Given the description of an element on the screen output the (x, y) to click on. 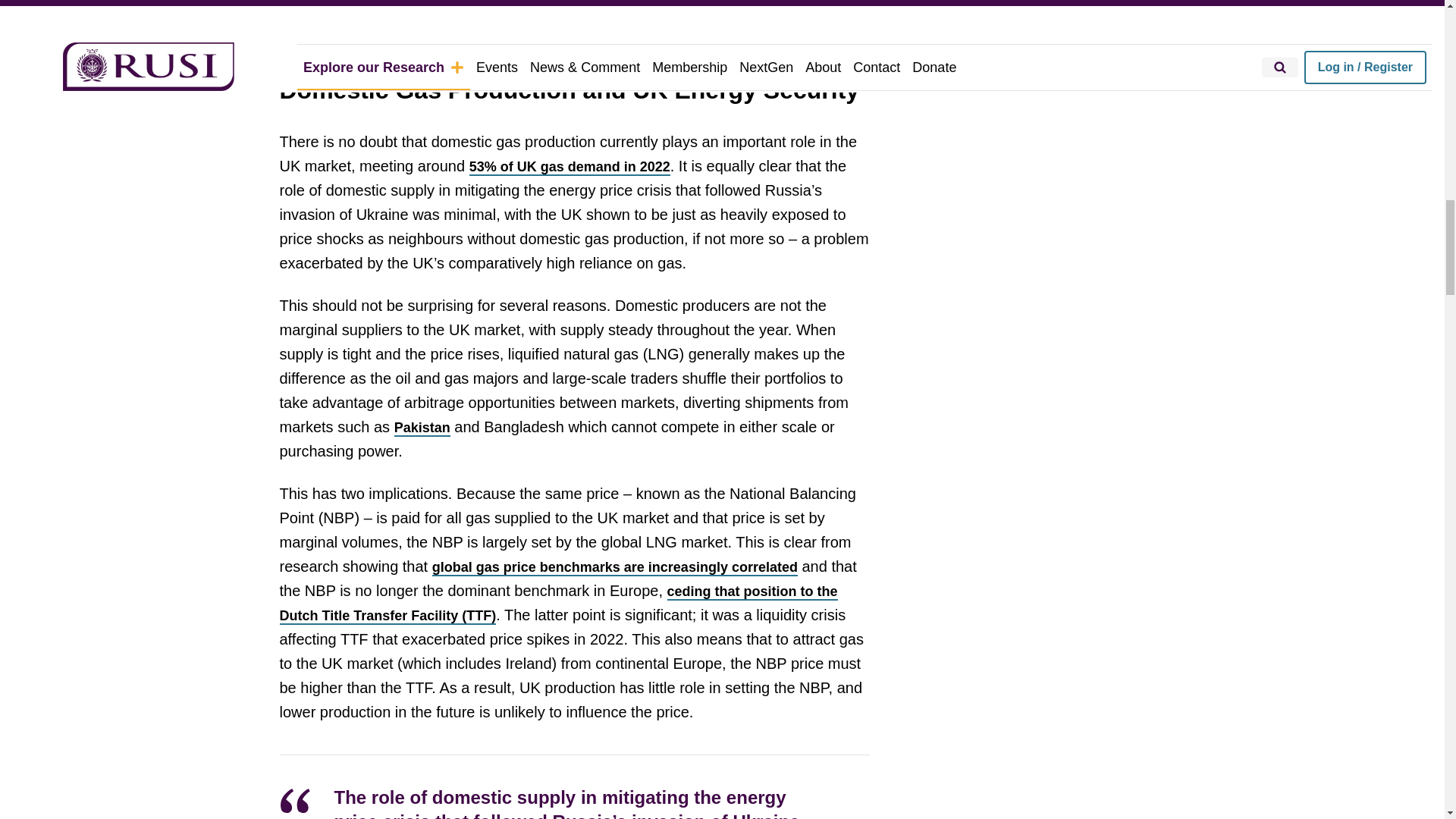
global gas price benchmarks are increasingly correlated (614, 567)
Pakistan (421, 428)
increasing costs of renewables (445, 2)
